Given the description of an element on the screen output the (x, y) to click on. 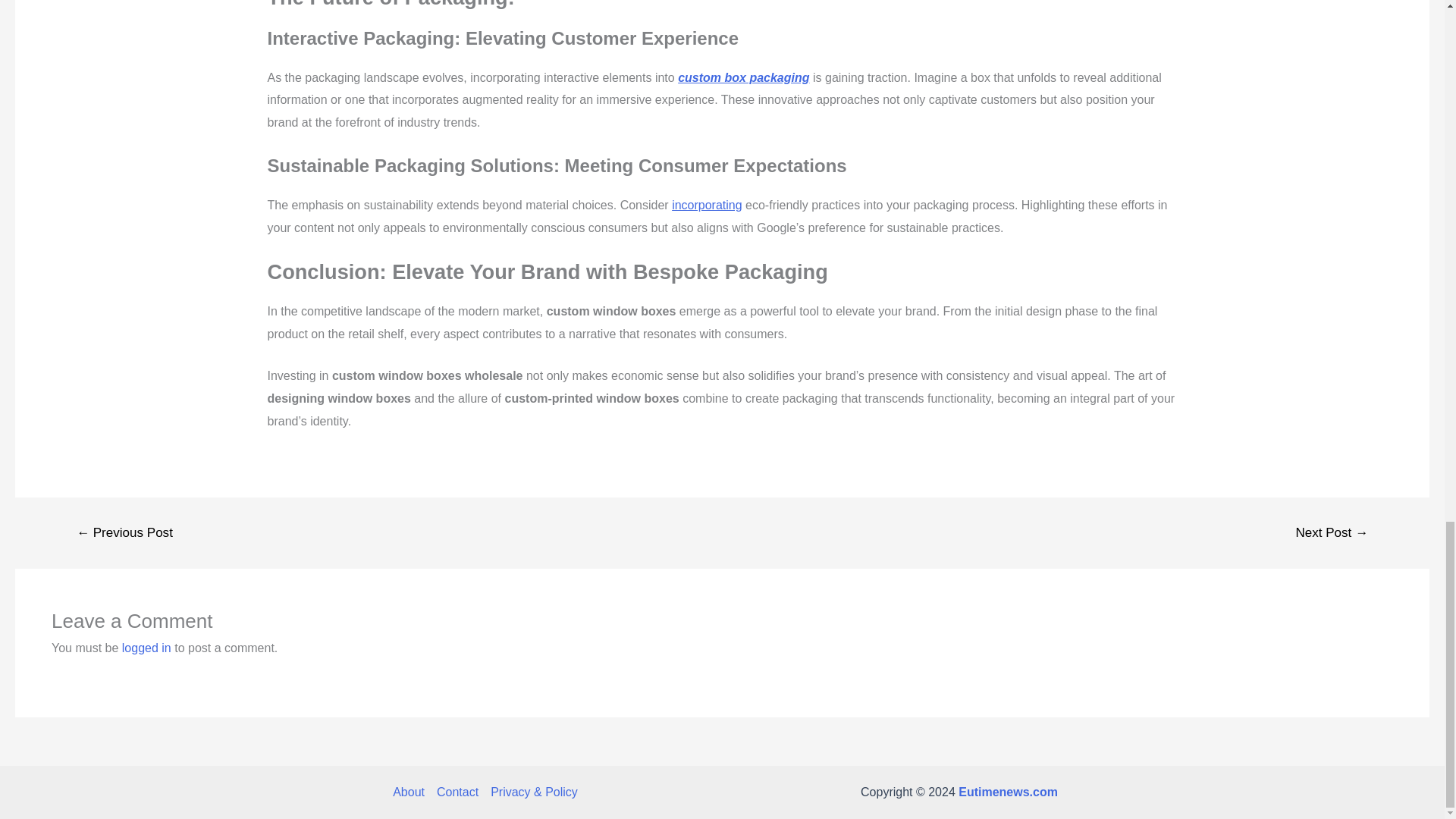
About (411, 792)
Contact (457, 792)
custom box packaging (743, 77)
incorporating (706, 205)
logged in (146, 647)
